Given the description of an element on the screen output the (x, y) to click on. 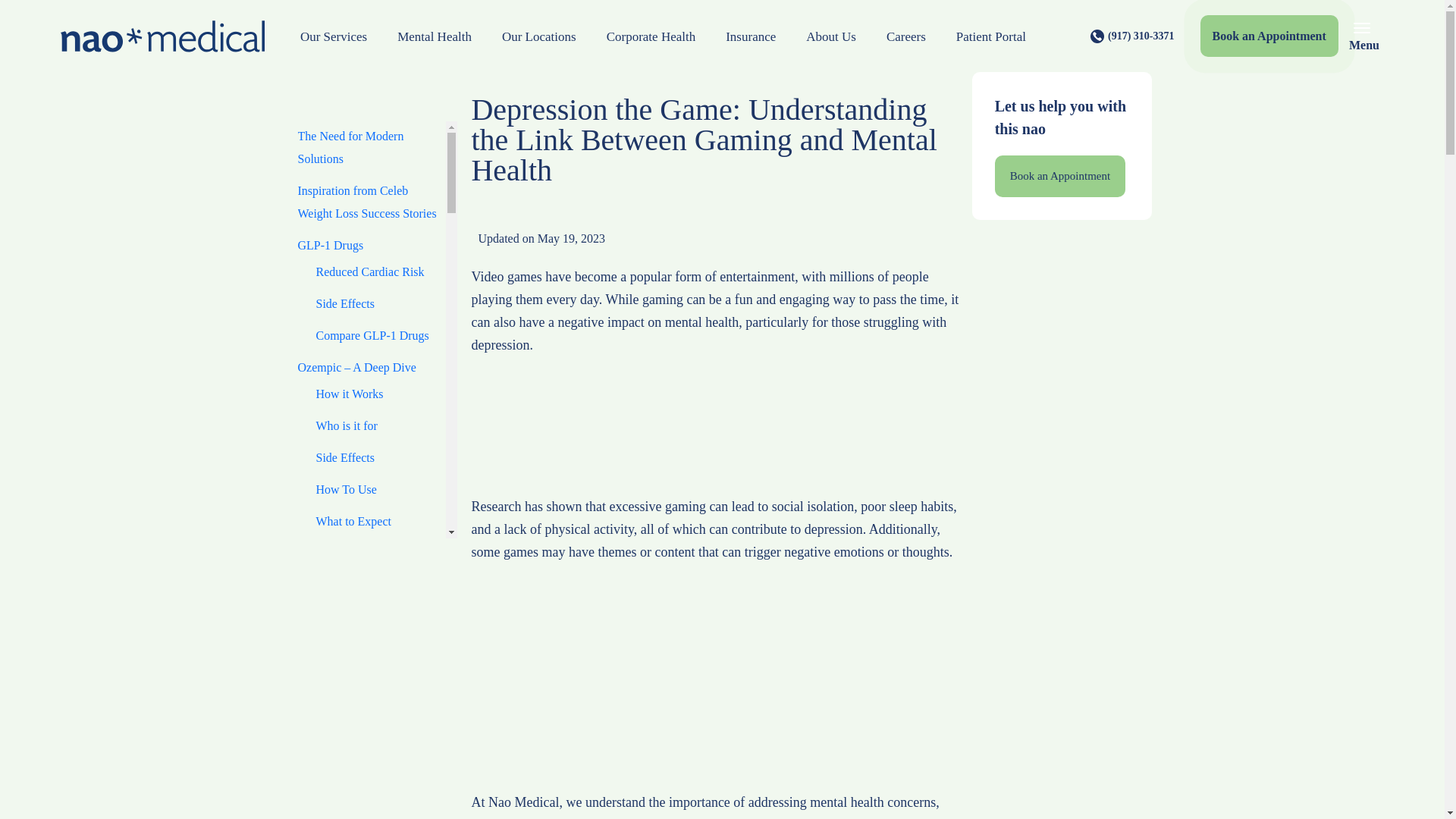
Corporate Health (650, 36)
Our Locations (539, 36)
Advertisement (717, 433)
Our Services (333, 36)
Insurance (750, 36)
Advertisement (1061, 754)
Mental Health (434, 36)
About Us (830, 36)
Advertisement (716, 684)
